Given the description of an element on the screen output the (x, y) to click on. 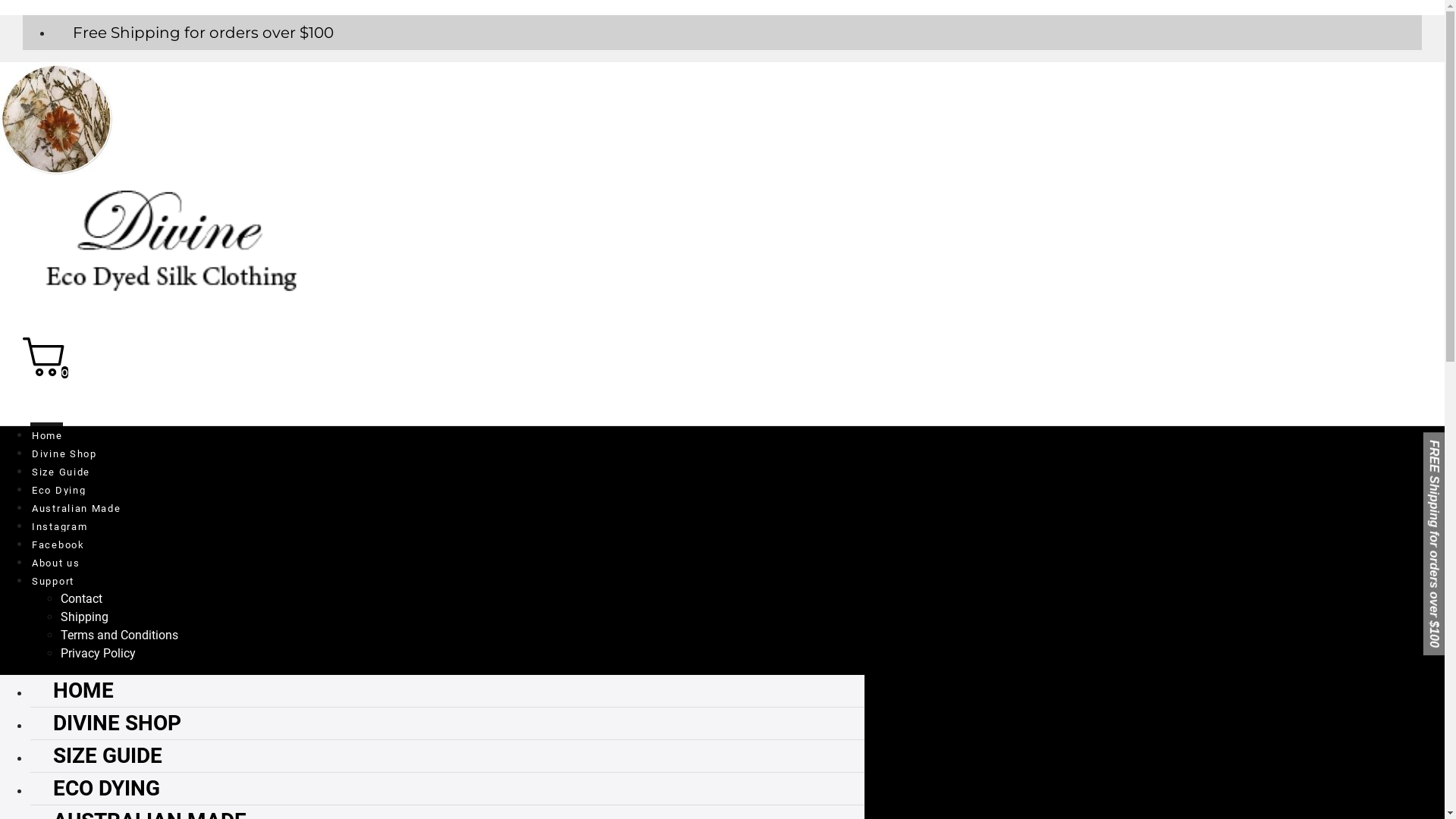
Free Shipping for orders over $100 Element type: text (193, 32)
Terms and Conditions Element type: text (119, 634)
Divine Shop Element type: text (63, 450)
Facebook Element type: text (57, 541)
Shipping Element type: text (84, 616)
Size Guide Element type: text (60, 468)
Instagram Element type: text (58, 523)
Support Element type: text (52, 577)
SIZE GUIDE Element type: text (96, 755)
About us Element type: text (55, 559)
Eco Dying Element type: text (57, 486)
HOME Element type: text (71, 690)
Home Element type: text (46, 432)
0 Element type: text (45, 371)
Privacy Policy Element type: text (97, 653)
Contact Element type: text (81, 598)
Australian Made Element type: text (75, 505)
DIVINE SHOP Element type: text (105, 722)
